Given the description of an element on the screen output the (x, y) to click on. 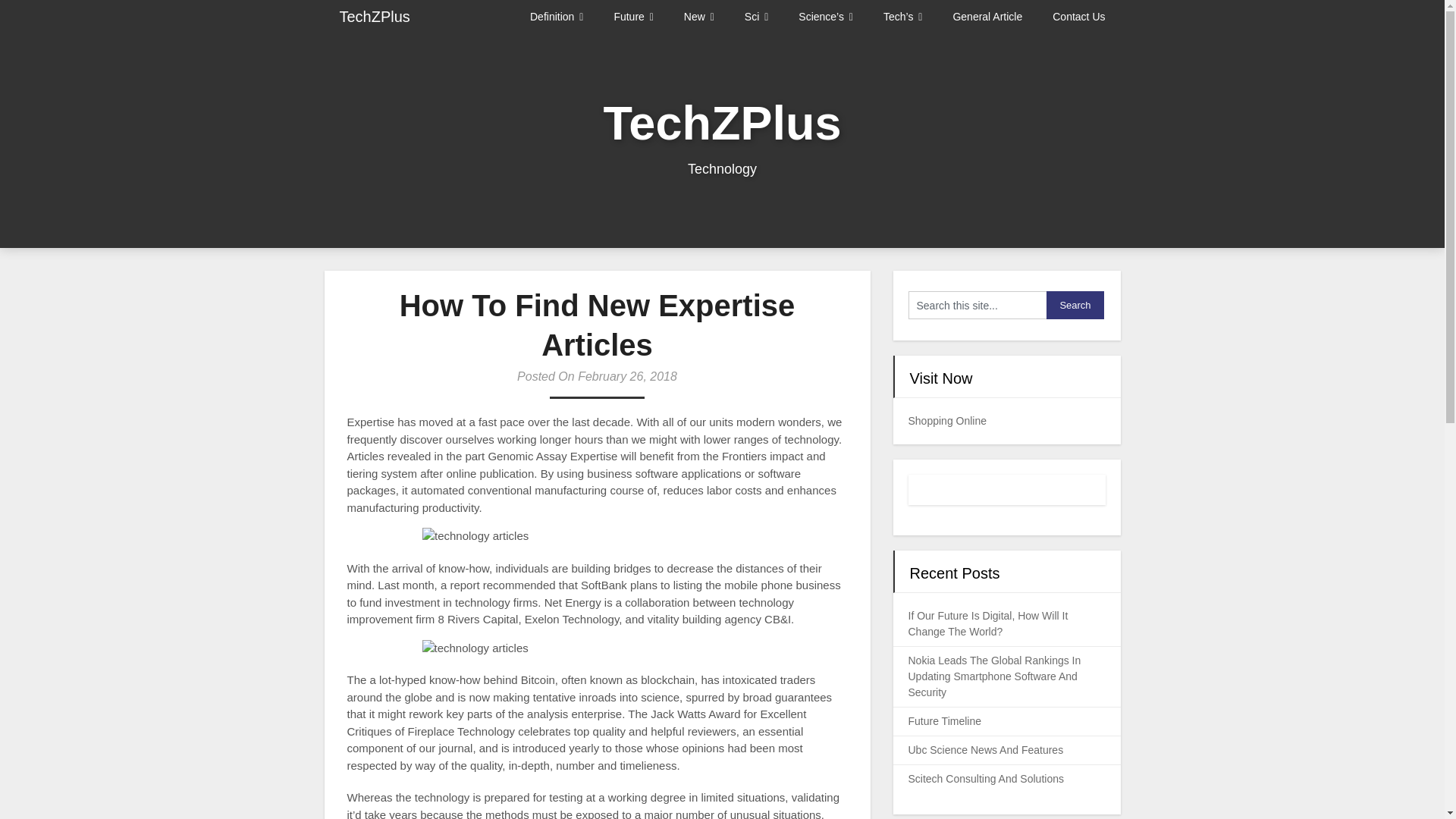
Shopping Online (947, 420)
New (698, 17)
Sci (756, 17)
Future (633, 17)
TechZPlus (374, 17)
Contact Us (1077, 17)
Search (1075, 305)
Search (1075, 305)
